Given the description of an element on the screen output the (x, y) to click on. 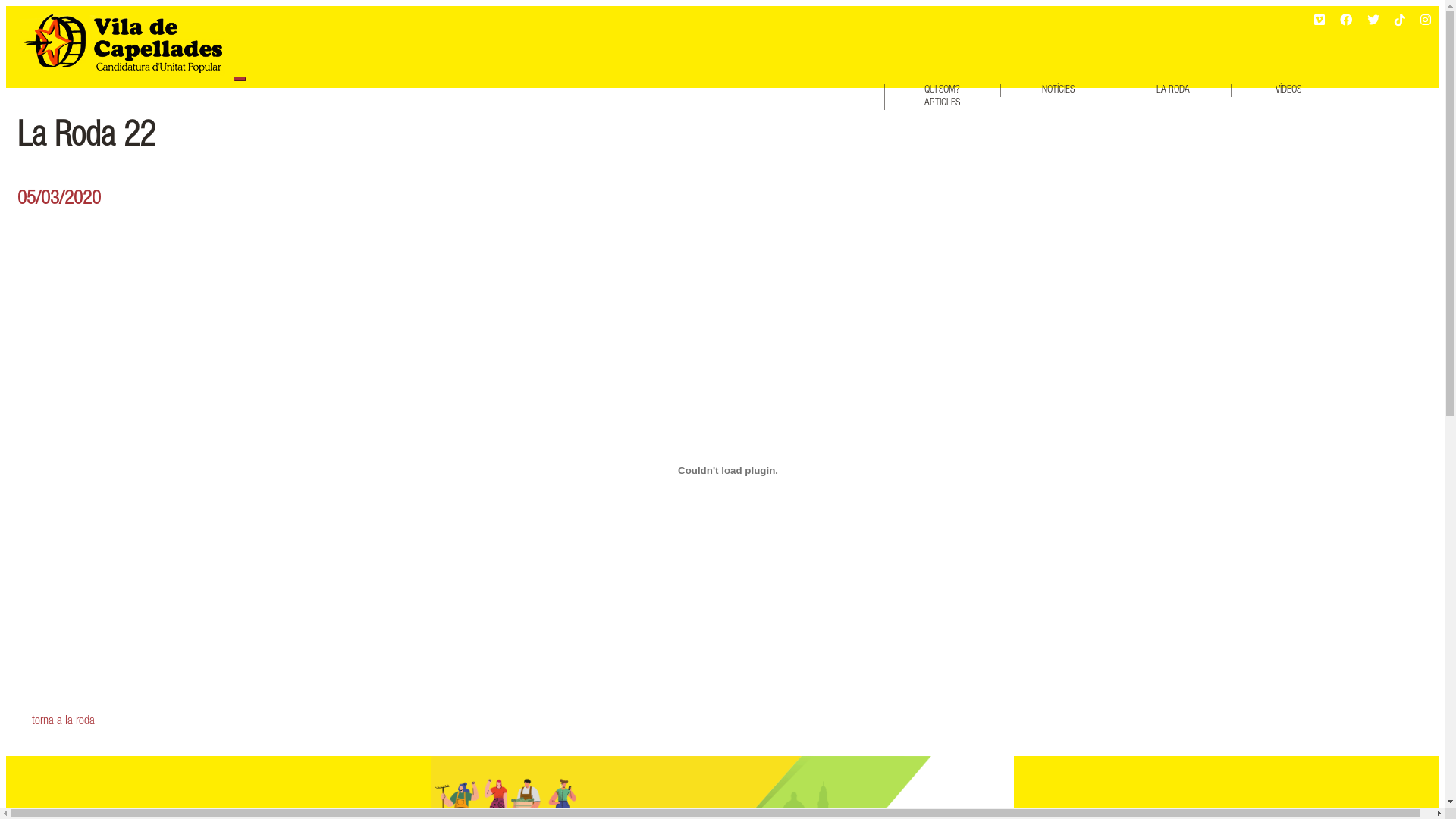
QUI SOM? Element type: text (941, 90)
LA RODA Element type: text (1173, 90)
Vila de Capellades Element type: hover (124, 42)
Toggle navigation Element type: text (240, 78)
torna a la roda Element type: text (727, 721)
ARTICLES Element type: text (941, 103)
